Given the description of an element on the screen output the (x, y) to click on. 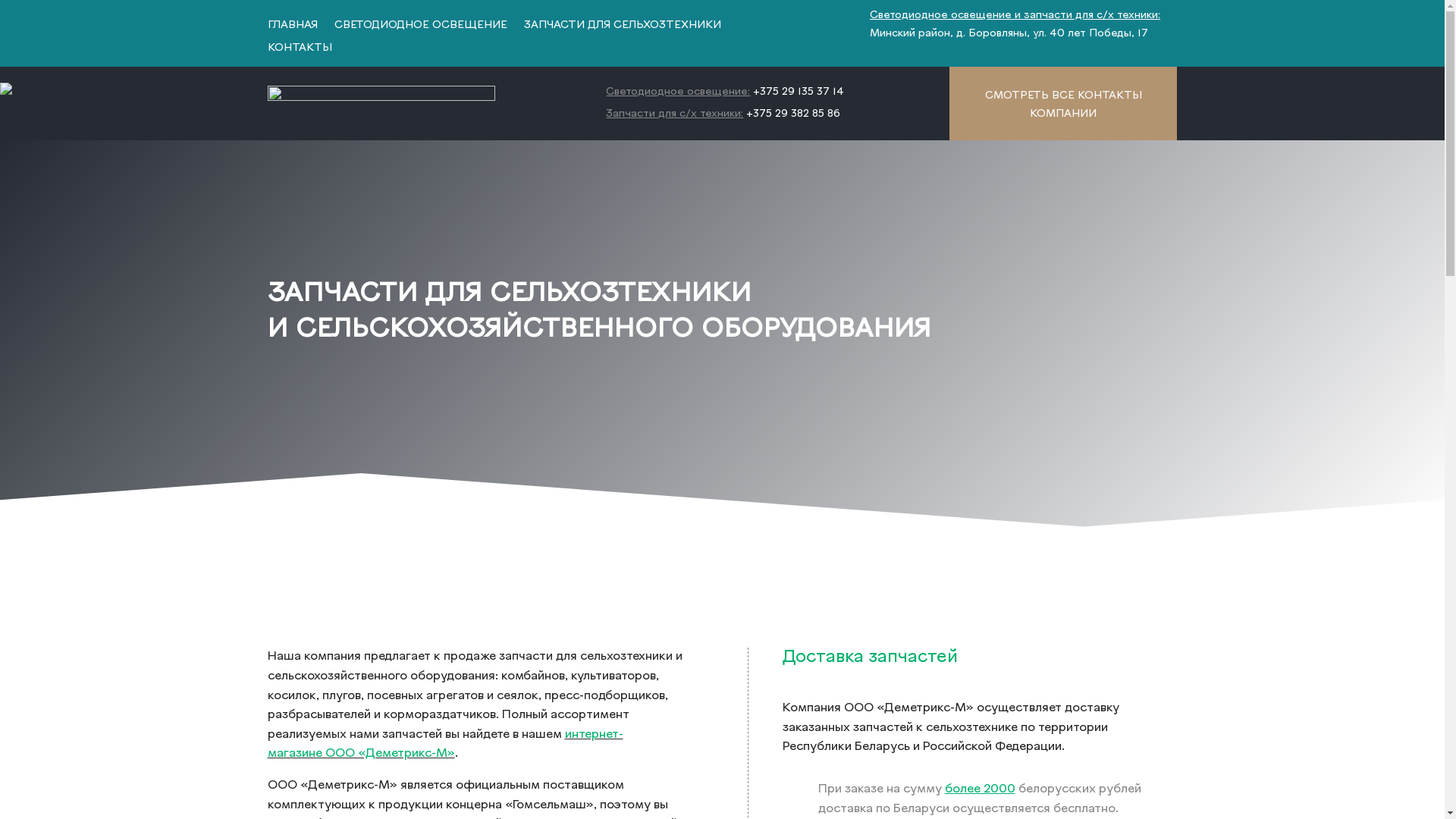
logodemetrix Element type: hover (380, 102)
+375 29 135 37 14 Element type: text (796, 91)
+375 29 382 85 86 Element type: text (793, 113)
